Given the description of an element on the screen output the (x, y) to click on. 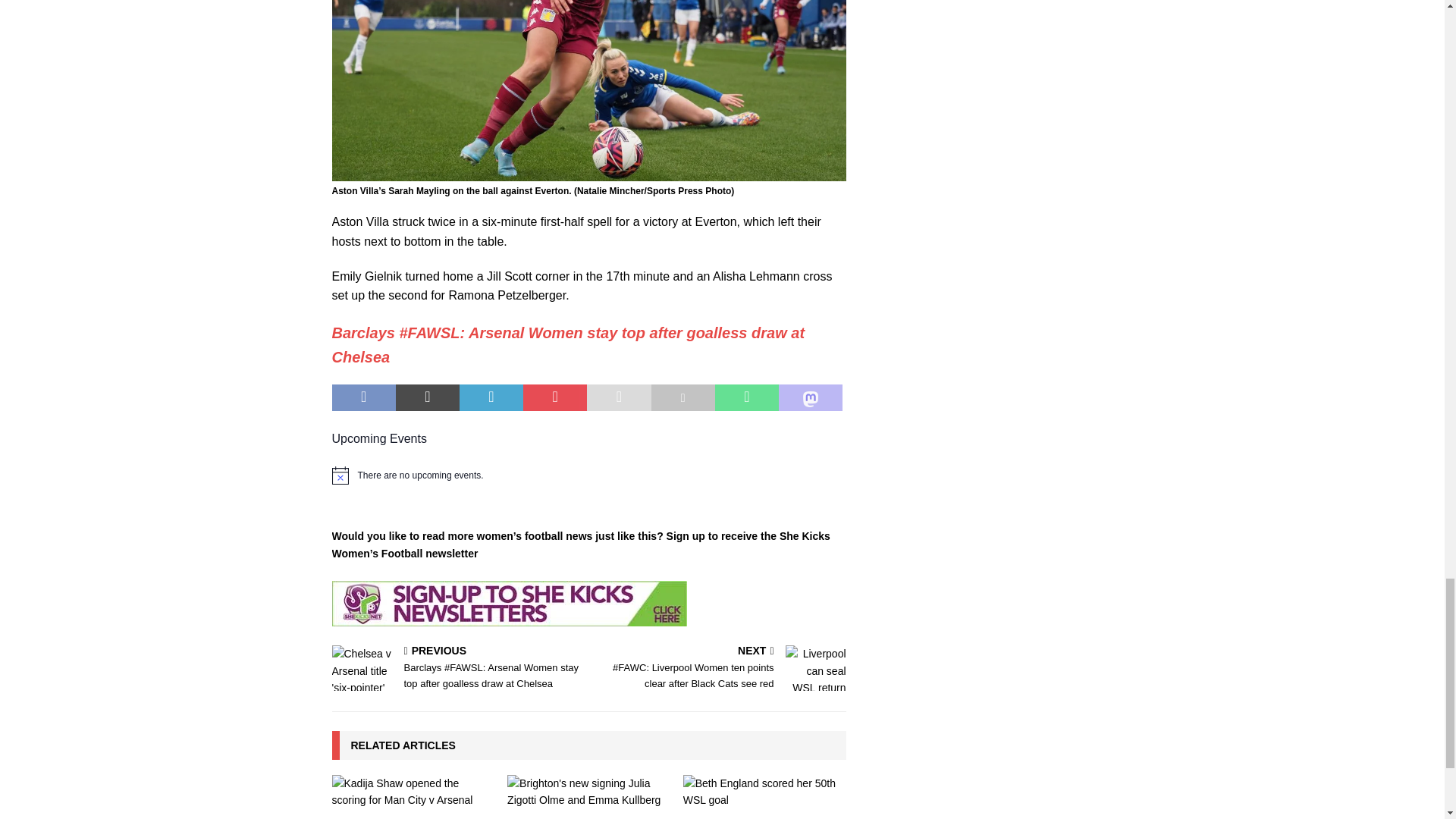
Send this article to a friend (618, 397)
Pin This Post (554, 397)
Share on LinkedIn (491, 397)
Share on Facebook (363, 397)
Tweet This Post (428, 397)
